Given the description of an element on the screen output the (x, y) to click on. 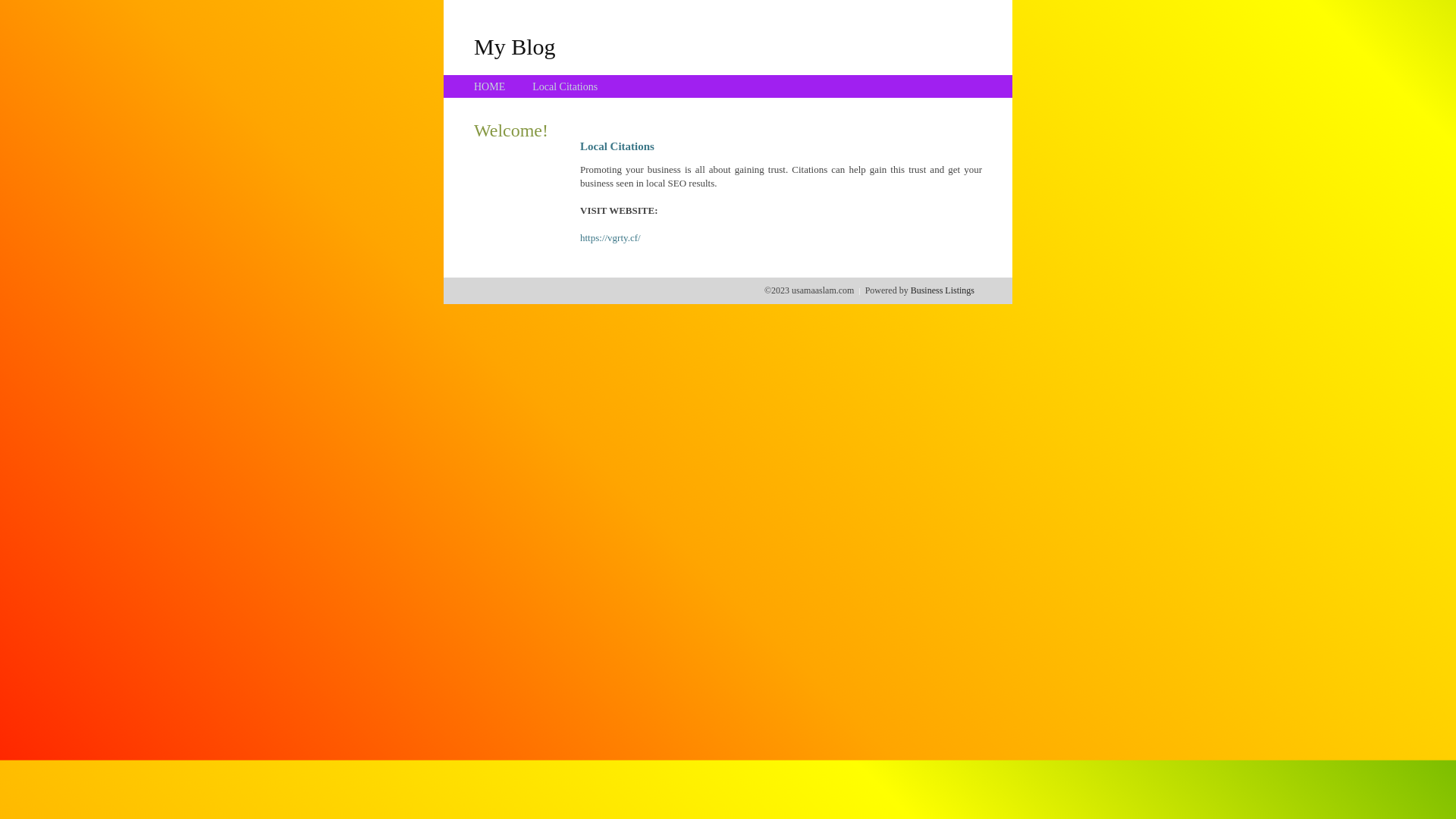
Business Listings Element type: text (942, 290)
Local Citations Element type: text (564, 86)
https://vgrty.cf/ Element type: text (610, 237)
HOME Element type: text (489, 86)
My Blog Element type: text (514, 46)
